Given the description of an element on the screen output the (x, y) to click on. 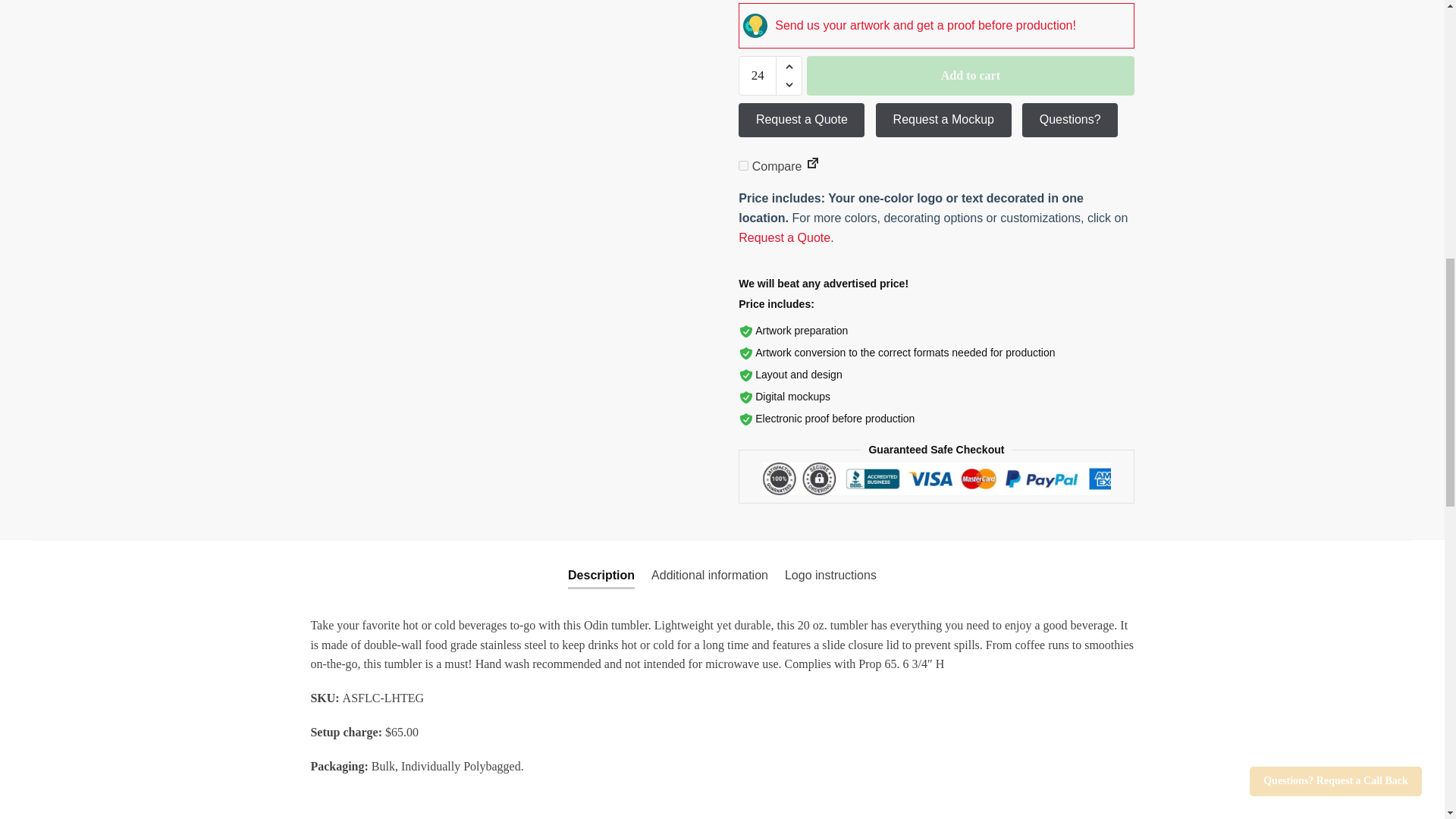
on (743, 165)
24 (757, 75)
